Given the description of an element on the screen output the (x, y) to click on. 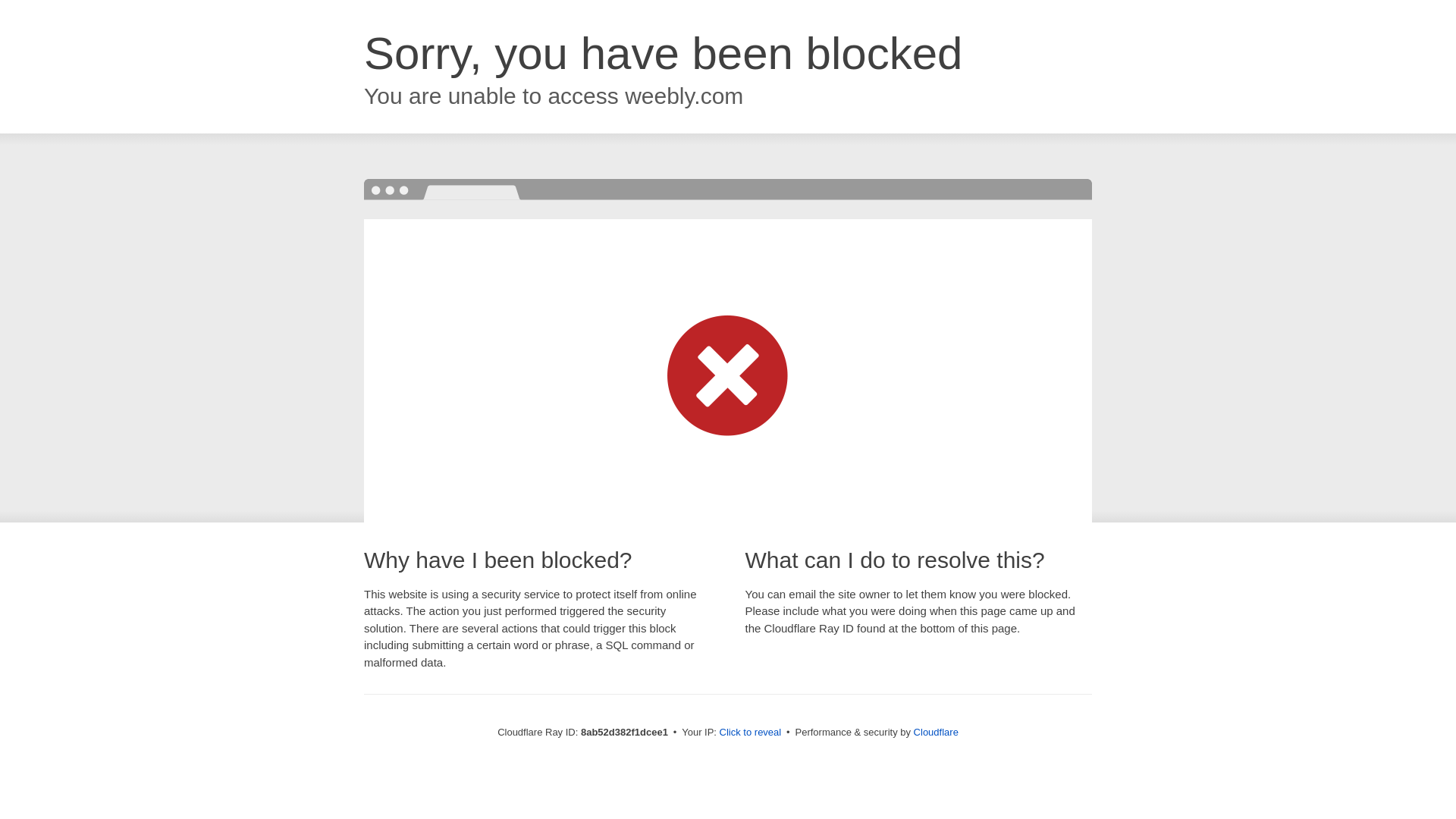
Click to reveal (750, 732)
Cloudflare (936, 731)
